Given the description of an element on the screen output the (x, y) to click on. 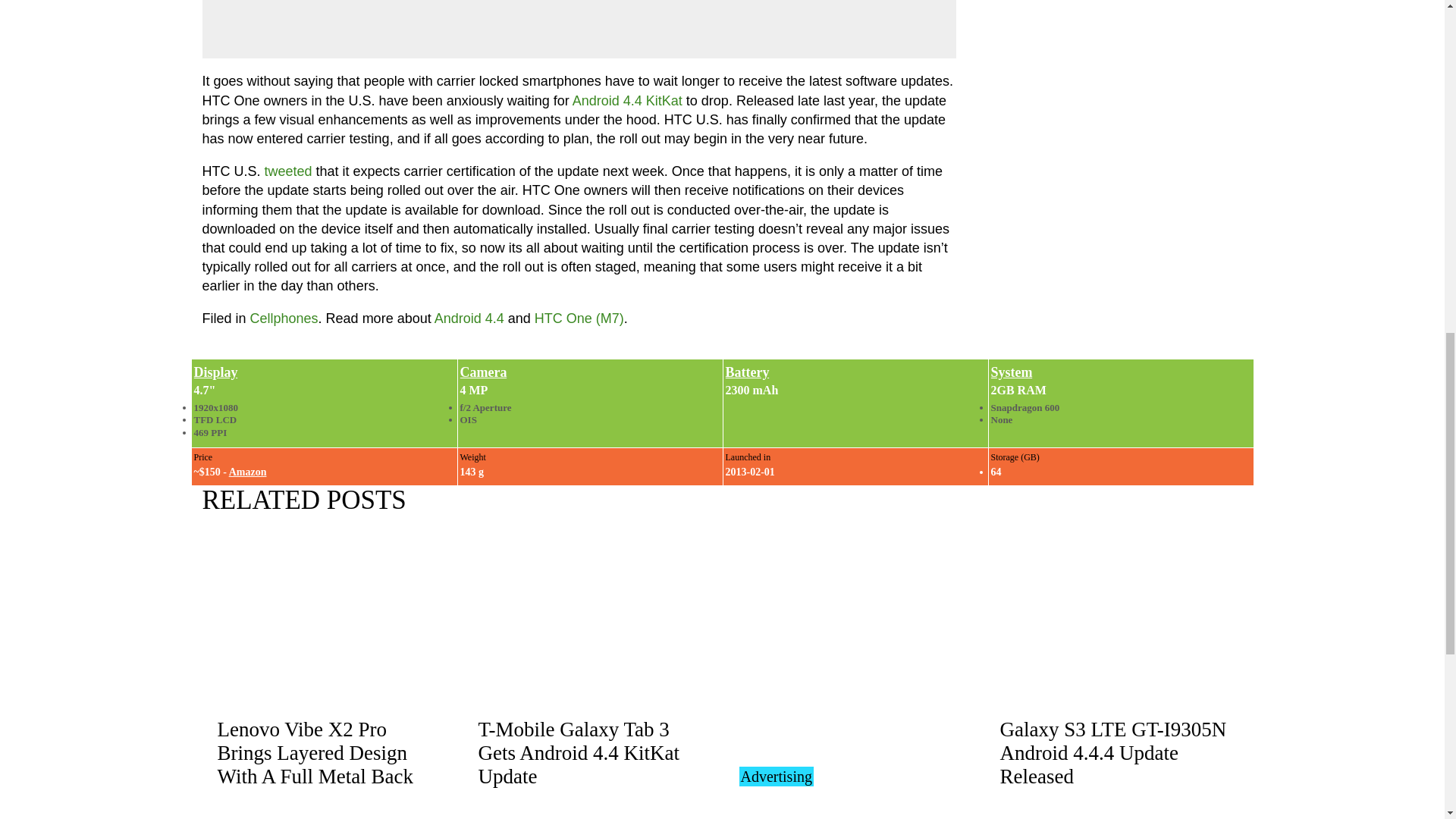
HTC One Receives Android 4.4 KitKat Update In France (627, 100)
